Given the description of an element on the screen output the (x, y) to click on. 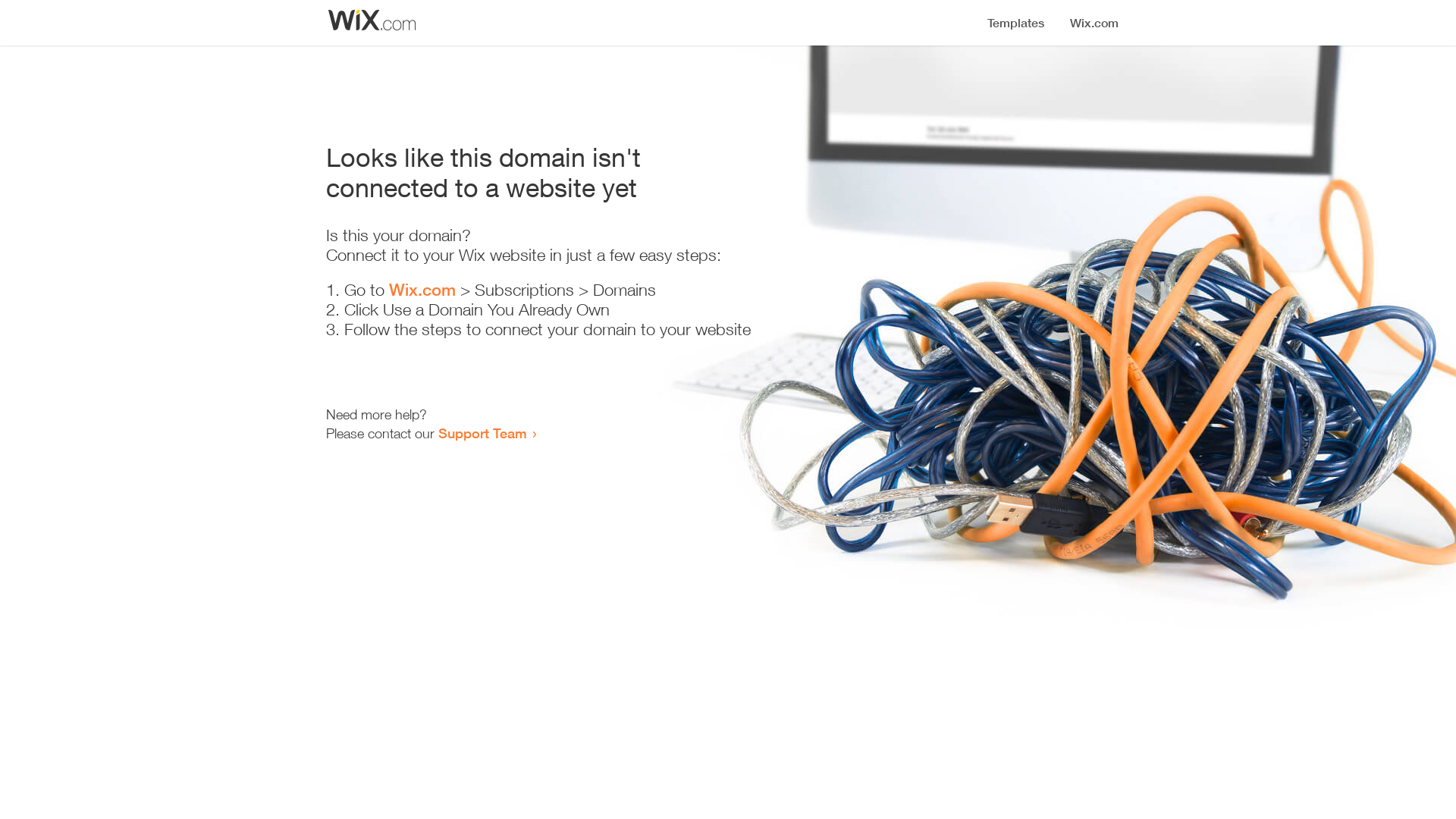
Wix.com Element type: text (422, 289)
Support Team Element type: text (482, 432)
